Given the description of an element on the screen output the (x, y) to click on. 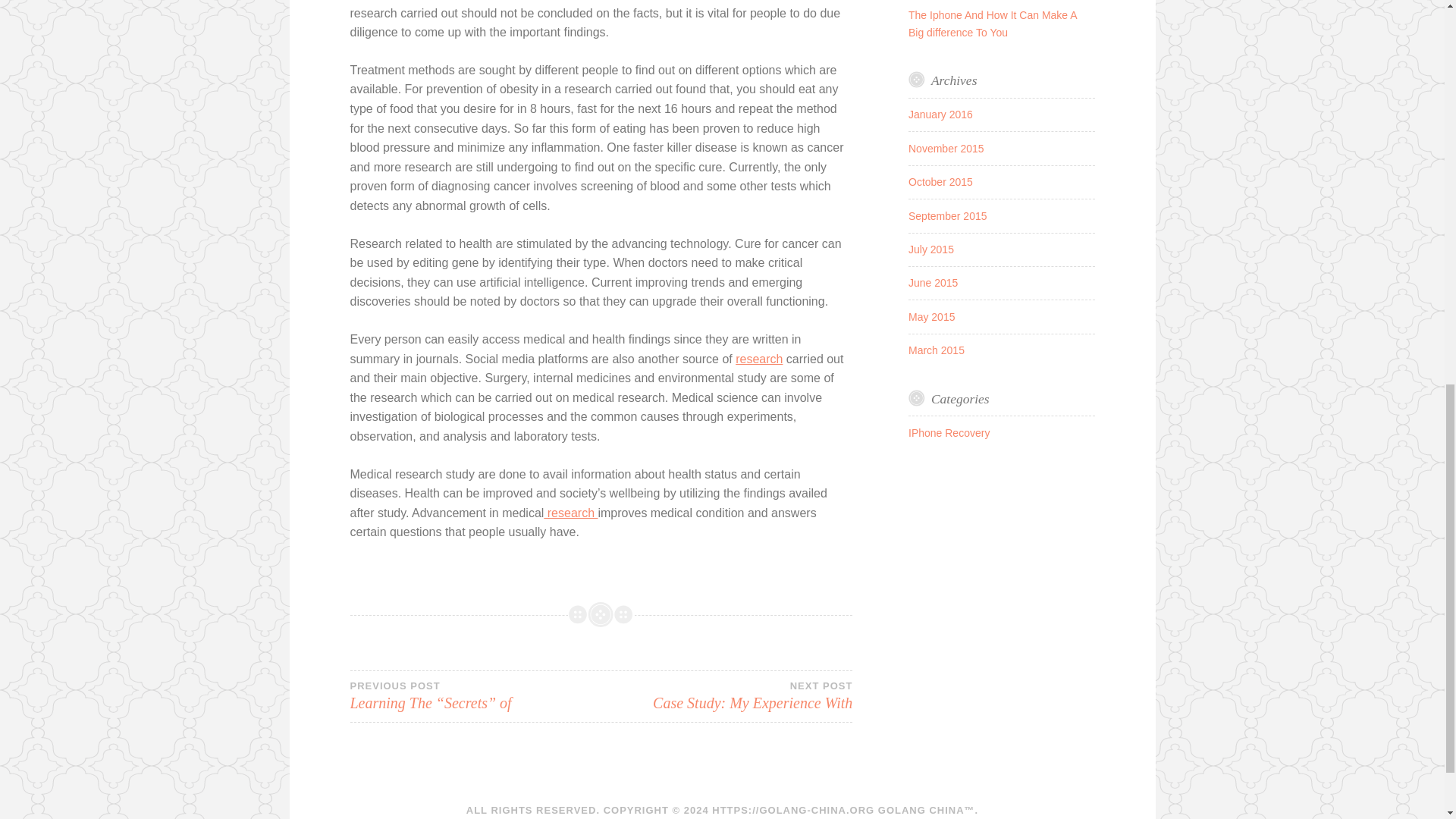
research (726, 695)
November 2015 (759, 358)
May 2015 (946, 148)
January 2016 (931, 316)
research (940, 114)
June 2015 (569, 512)
July 2015 (933, 282)
March 2015 (930, 249)
The Iphone And How It Can Make A Big difference To You (935, 349)
